Given the description of an element on the screen output the (x, y) to click on. 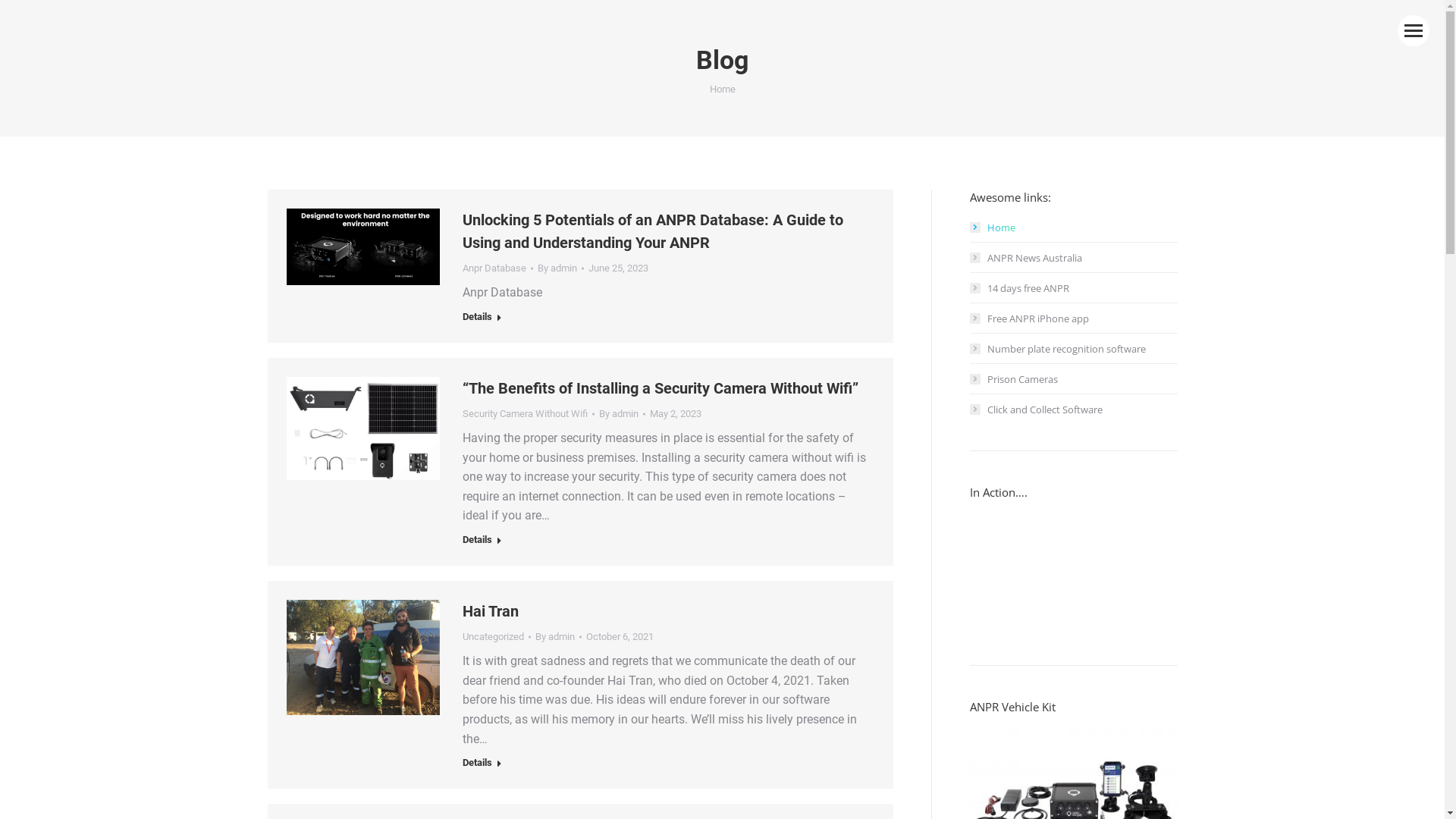
Click and Collect Software Element type: text (1035, 409)
May 2, 2023 Element type: text (675, 413)
ANPR News Australia Element type: text (1025, 257)
Uncategorized Element type: text (493, 636)
Home Element type: text (991, 227)
June 25, 2023 Element type: text (618, 268)
anpr cameras for vehicles Element type: hover (363, 246)
Aero 4G Element type: hover (363, 428)
hai Element type: hover (363, 657)
By admin Element type: text (622, 413)
By admin Element type: text (558, 636)
Hai Tran Element type: text (490, 611)
Prison Cameras Element type: text (1013, 378)
October 6, 2021 Element type: text (619, 636)
Number plate recognition software Element type: text (1057, 348)
Security Camera Without Wifi Element type: text (524, 413)
By admin Element type: text (560, 268)
Details Element type: text (482, 541)
14 days free ANPR Element type: text (1018, 287)
Details Element type: text (482, 764)
Home Element type: text (722, 88)
Free ANPR iPhone app Element type: text (1028, 318)
Anpr Database Element type: text (494, 267)
Details Element type: text (482, 318)
